Given the description of an element on the screen output the (x, y) to click on. 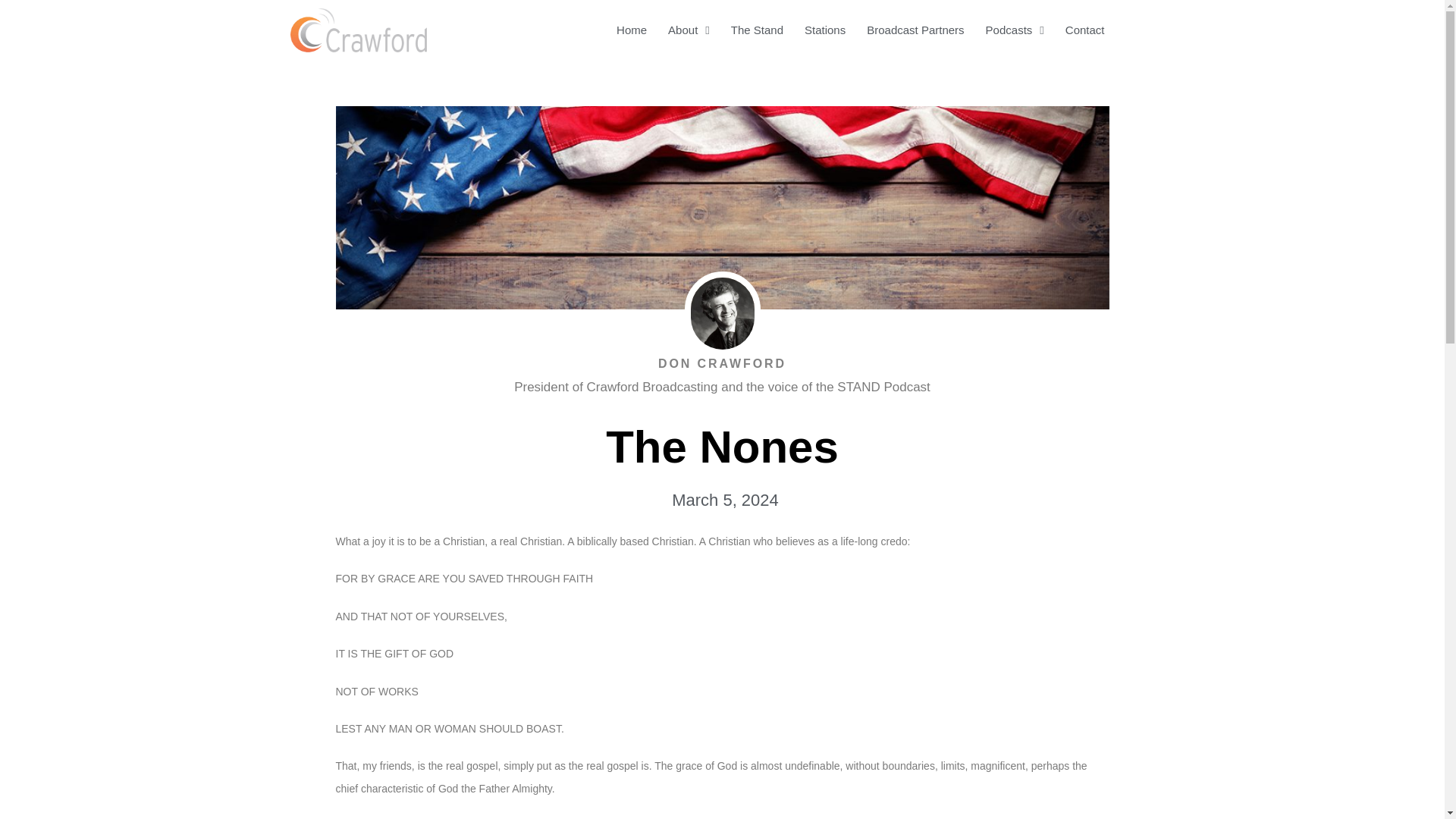
About (689, 30)
Contact (1084, 30)
The Stand (756, 30)
Stations (824, 30)
Broadcast Partners (915, 30)
Home (631, 30)
Podcasts (1014, 30)
